Given the description of an element on the screen output the (x, y) to click on. 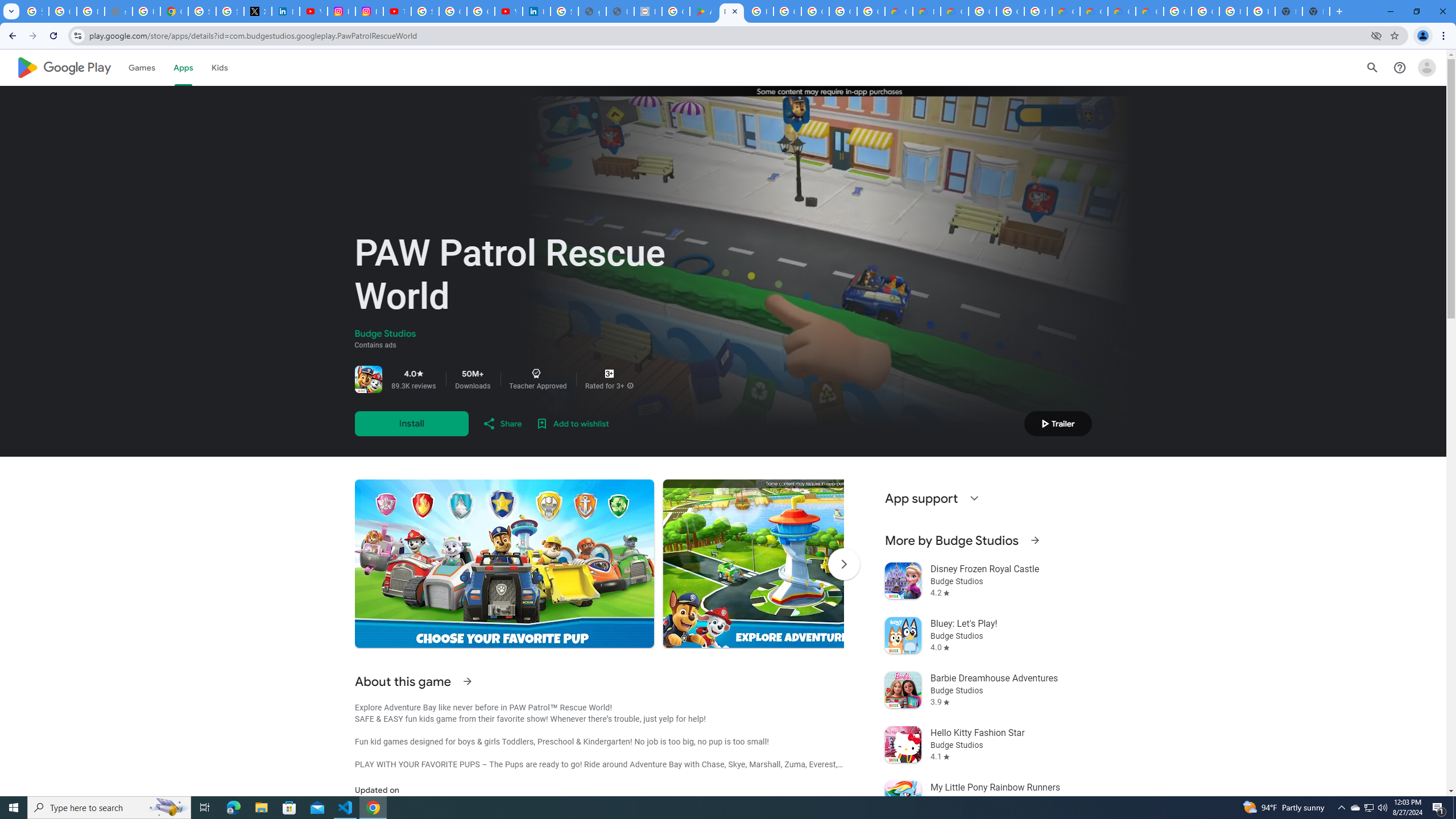
See more information on More by Budge Studios (1034, 539)
PAW Patrol Rescue World - Apps on Google Play (731, 11)
support.google.com - Network error (118, 11)
Add to wishlist (571, 422)
LinkedIn Privacy Policy (285, 11)
Privacy Help Center - Policies Help (146, 11)
Kids (219, 67)
Android Apps on Google Play (703, 11)
Customer Care | Google Cloud (898, 11)
